Given the description of an element on the screen output the (x, y) to click on. 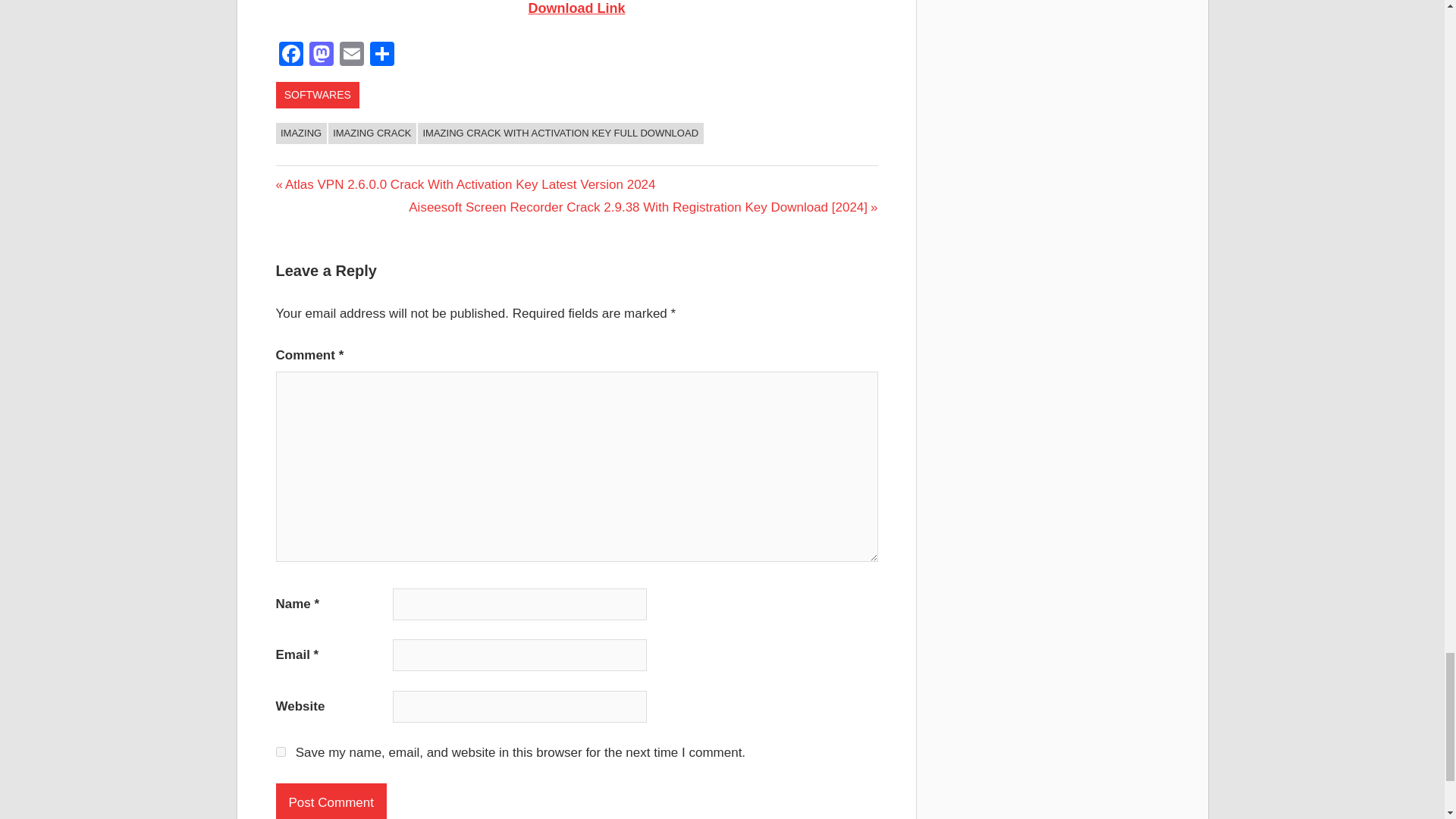
Share (381, 55)
yes (280, 751)
IMAZING CRACK (372, 133)
Facebook (290, 55)
Post Comment (331, 800)
Email (351, 55)
Mastodon (320, 55)
Facebook (290, 55)
Download Link (575, 7)
IMAZING (301, 133)
